Given the description of an element on the screen output the (x, y) to click on. 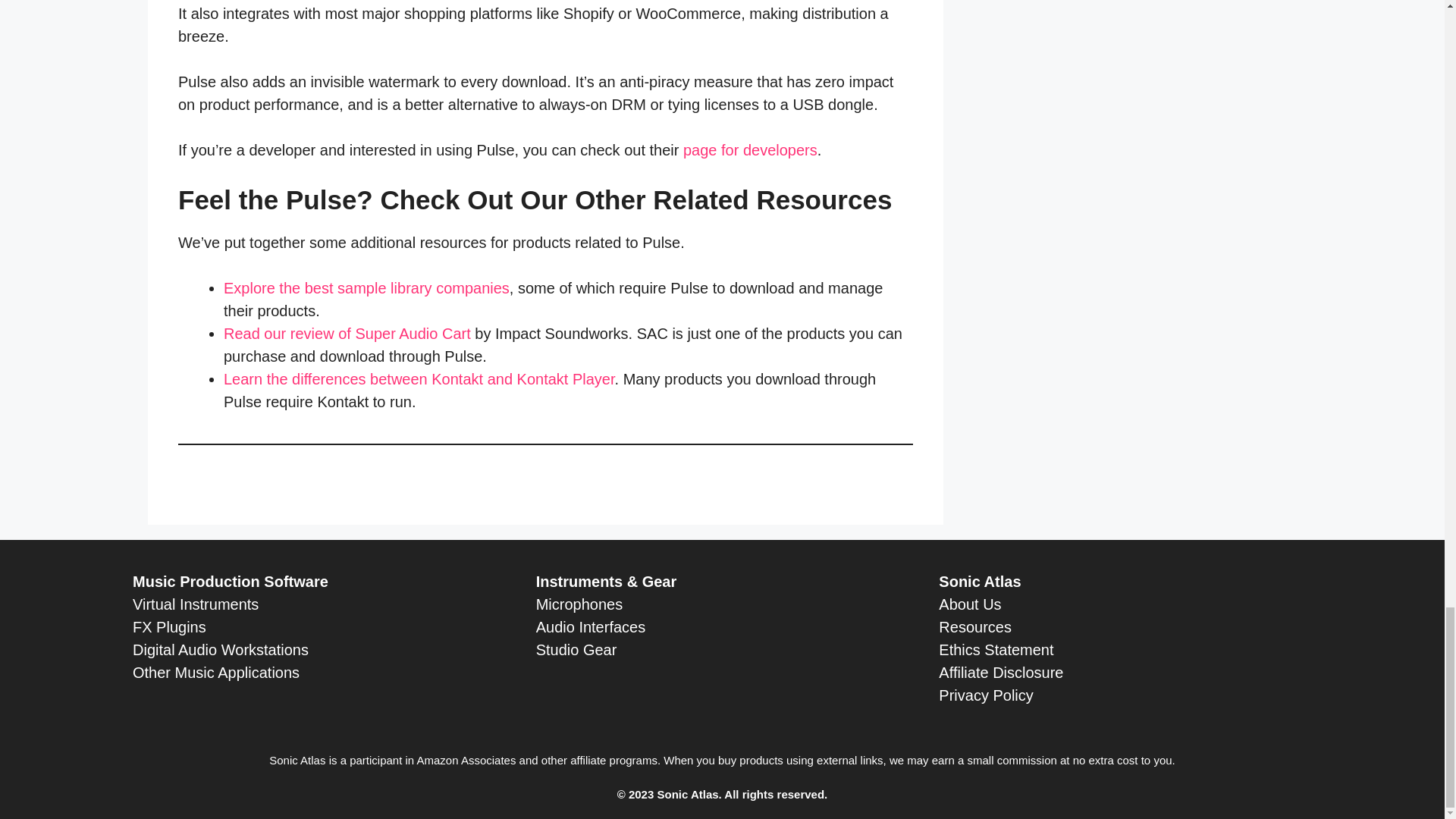
FX Plugins (169, 627)
Music Production Software (230, 581)
page for developers (749, 149)
Digital Audio Workstations (220, 649)
Studio Gear (576, 649)
Explore the best sample library companies (366, 288)
Read our review of Super Audio Cart (347, 333)
Learn the differences between Kontakt and Kontakt Player (419, 379)
Other Music Applications (215, 672)
Virtual Instruments (195, 604)
